Given the description of an element on the screen output the (x, y) to click on. 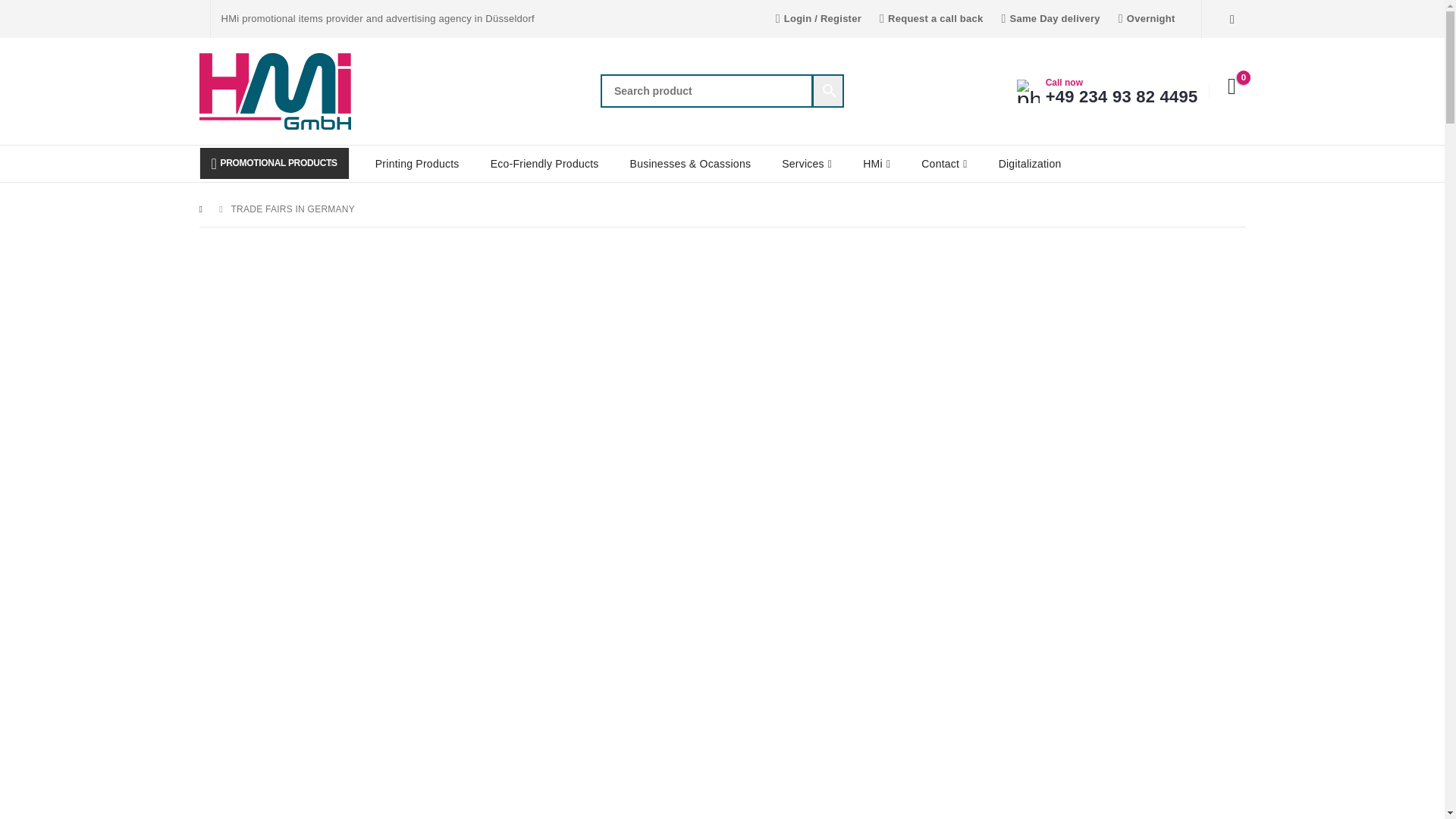
Instagram (1232, 18)
Overnight (1146, 18)
Same Day delivery (1050, 18)
Services (807, 163)
Request a call back (931, 18)
Printing Products (416, 163)
Eco-Friendly Products (545, 163)
HMi (876, 163)
